Given the description of an element on the screen output the (x, y) to click on. 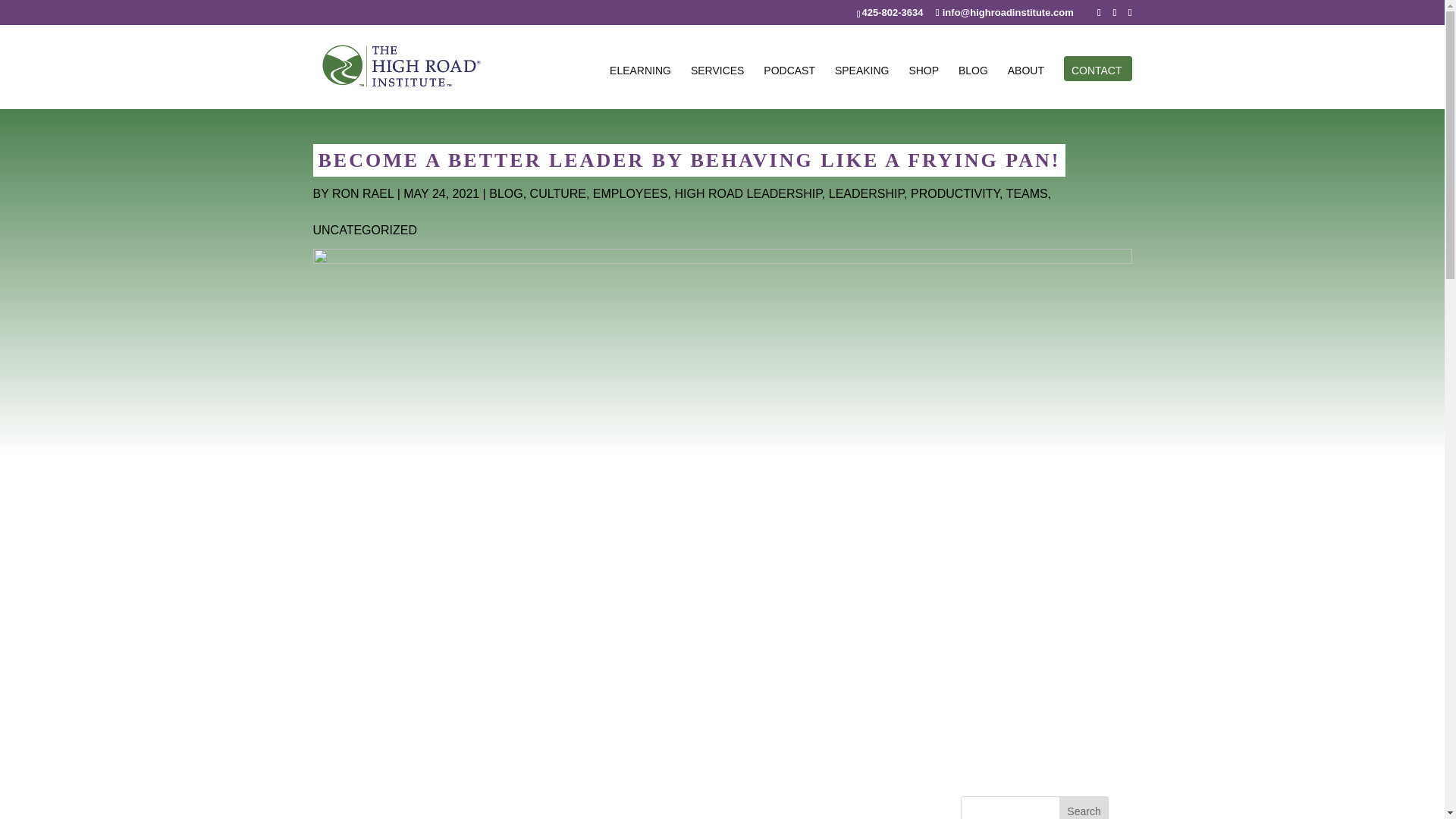
PRODUCTIVITY (954, 193)
CONTACT (1096, 86)
SERVICES (717, 86)
PODCAST (788, 86)
TEAMS (1027, 193)
SPEAKING (861, 86)
LEADERSHIP (866, 193)
HIGH ROAD LEADERSHIP (747, 193)
UNCATEGORIZED (364, 229)
